Given the description of an element on the screen output the (x, y) to click on. 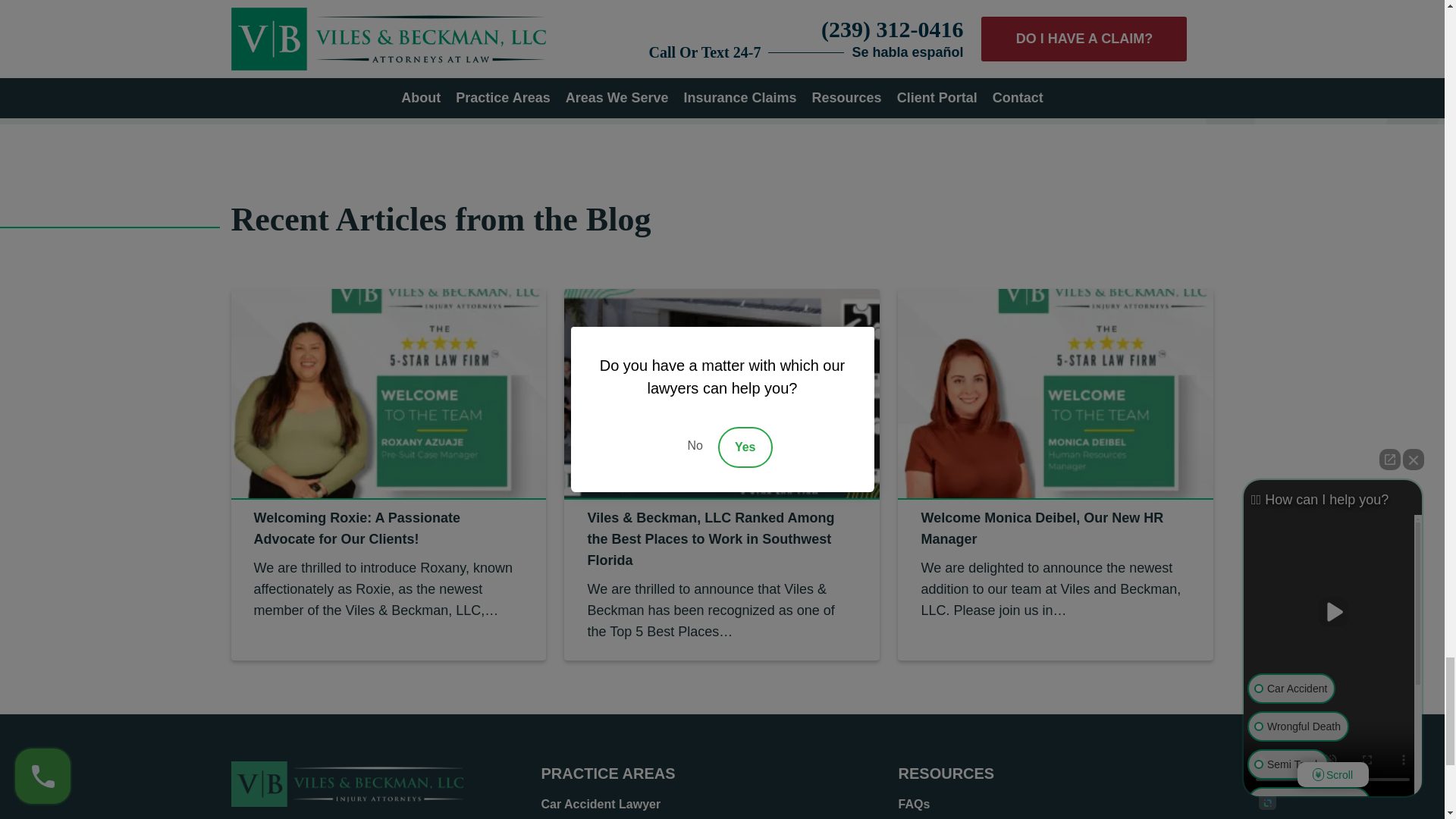
Get Consultation (471, 26)
